Given the description of an element on the screen output the (x, y) to click on. 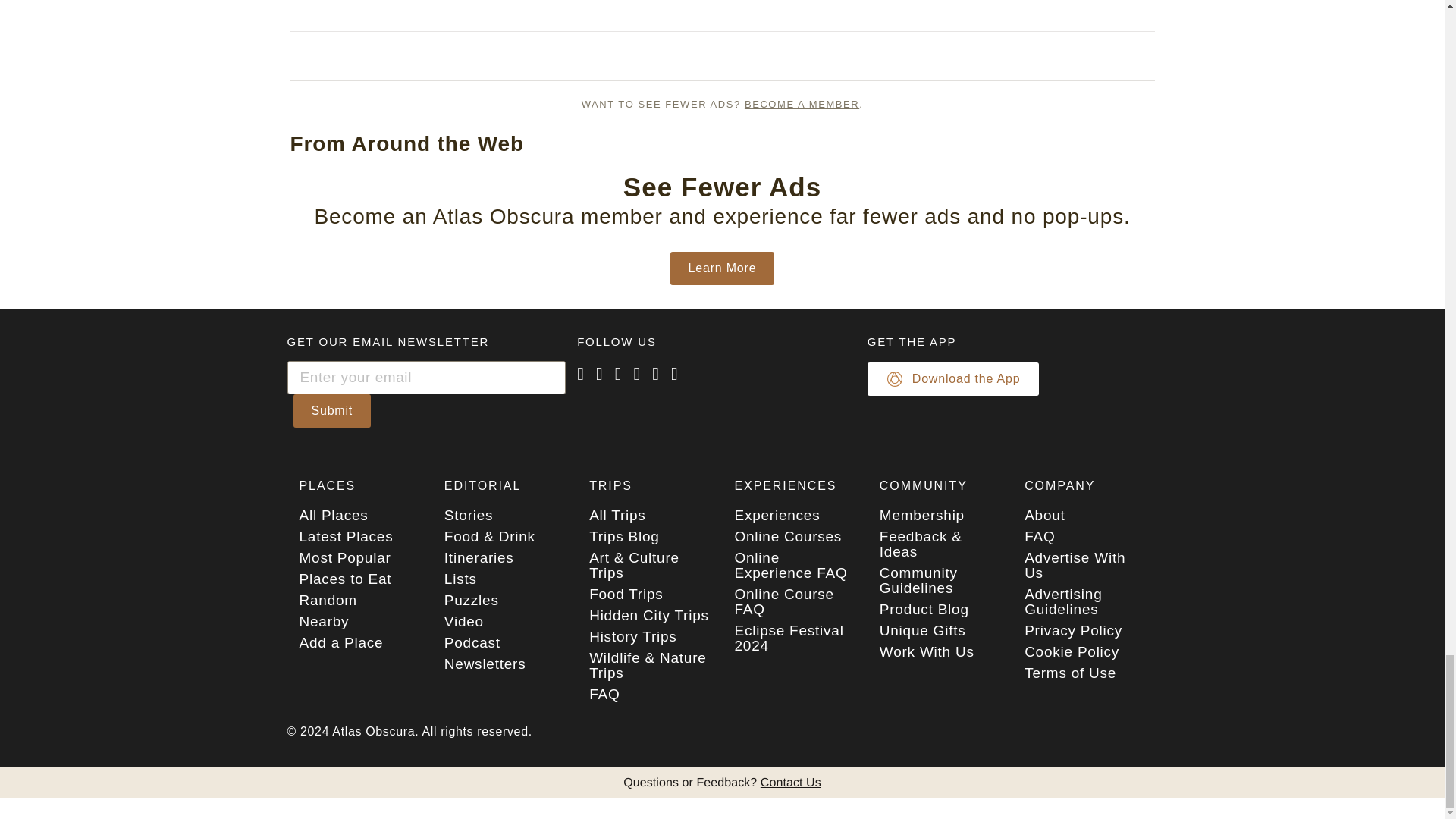
Submit (331, 410)
